Given the description of an element on the screen output the (x, y) to click on. 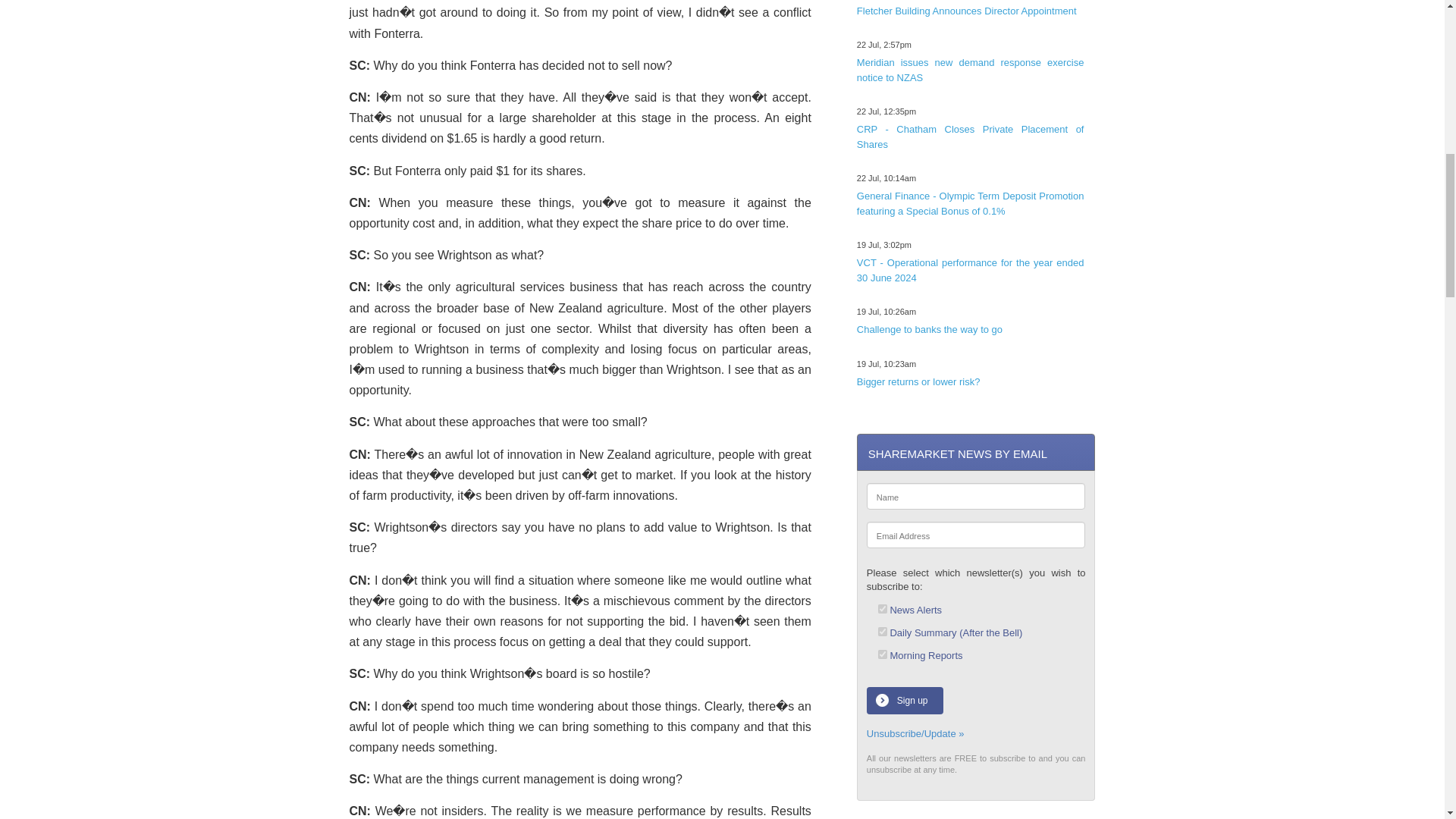
2 (881, 608)
41 (881, 631)
5 (881, 654)
